Given the description of an element on the screen output the (x, y) to click on. 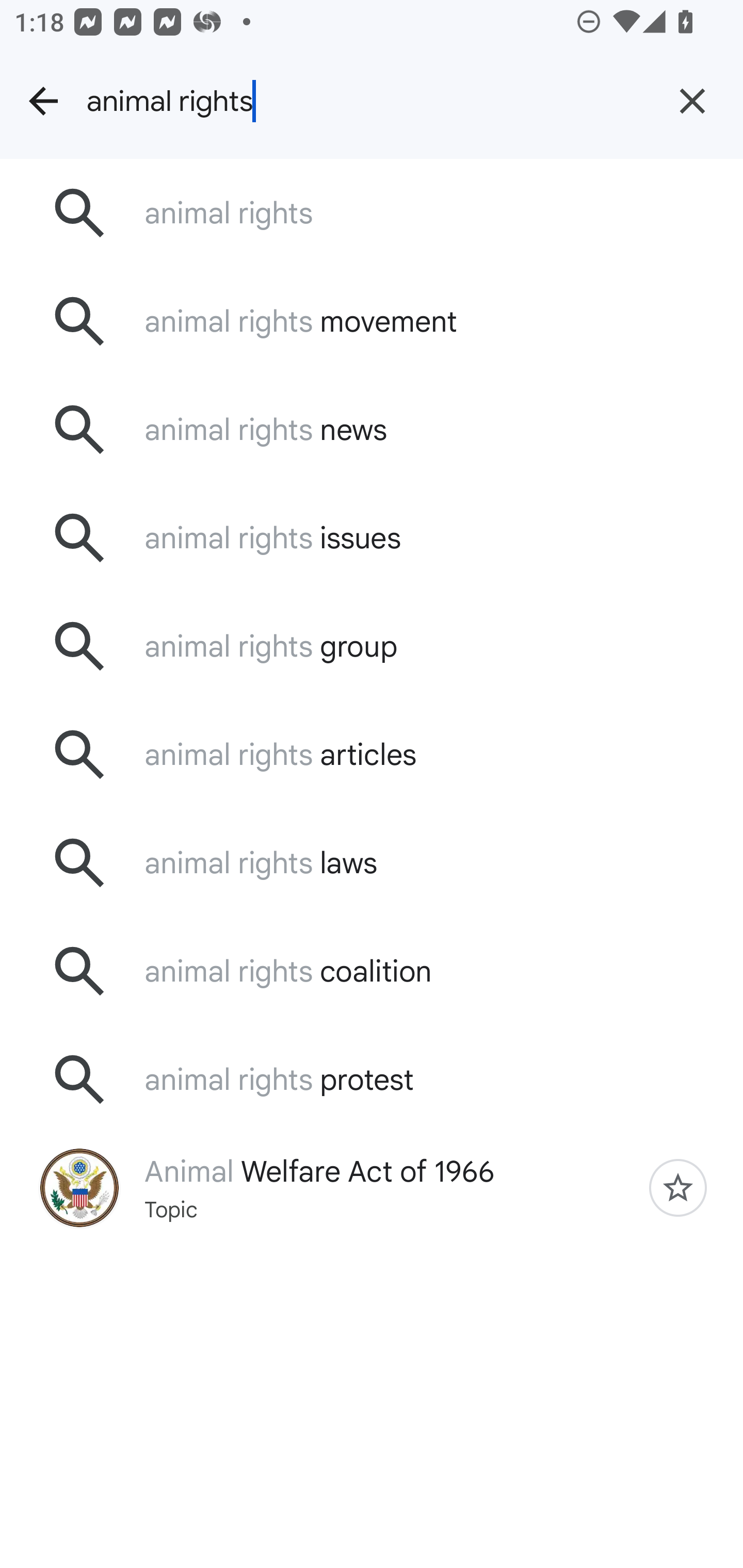
Back (43, 101)
animal rights (363, 101)
Clear text (692, 101)
animal rights (371, 212)
animal rights movement (371, 320)
animal rights news (371, 429)
animal rights issues (371, 538)
animal rights group (371, 646)
animal rights articles (371, 754)
animal rights laws (371, 863)
animal rights coalition (371, 971)
animal rights protest (371, 1079)
Animal Welfare Act of 1966 Topic Follow (371, 1187)
Follow (677, 1187)
